Given the description of an element on the screen output the (x, y) to click on. 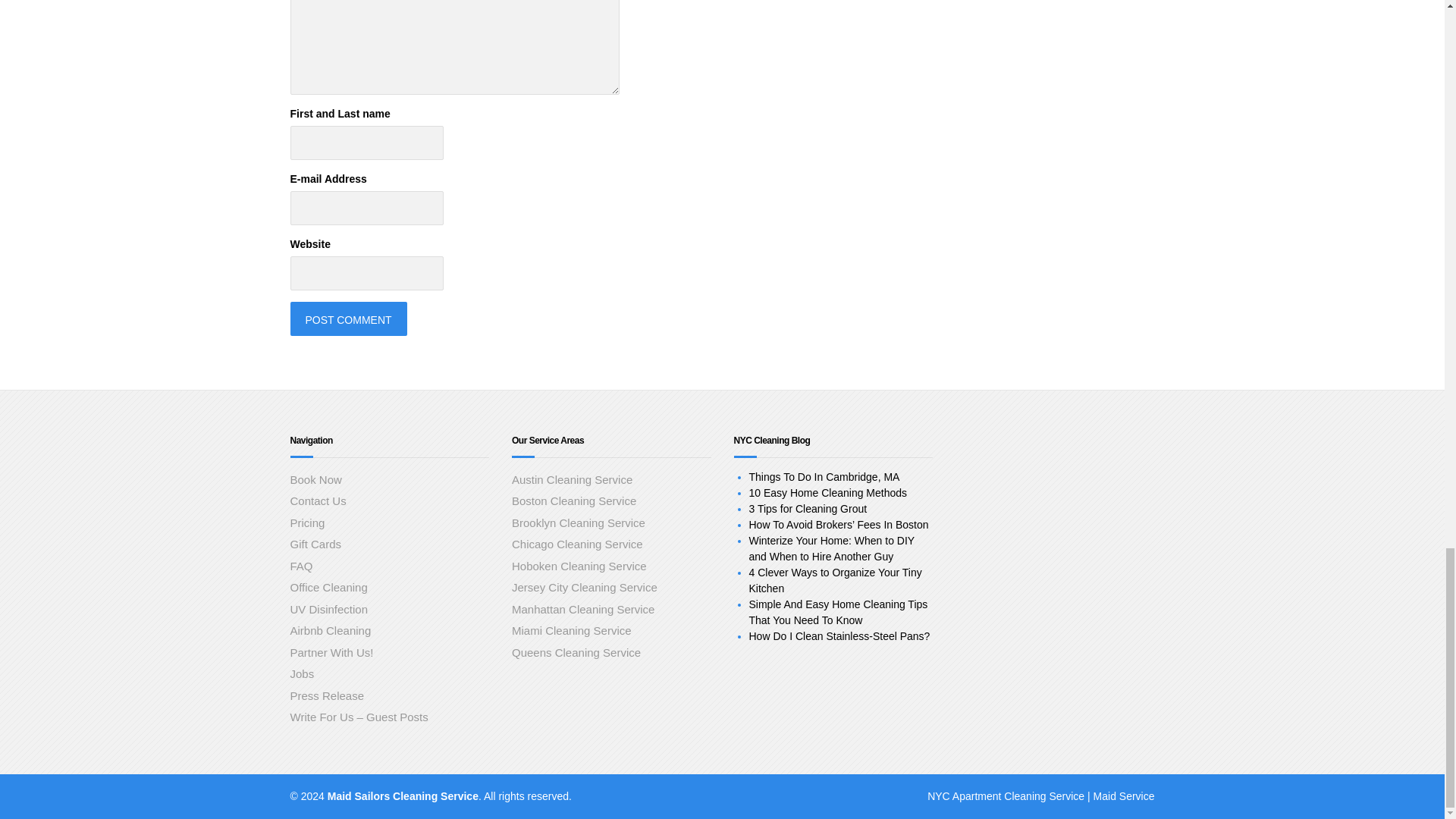
Post Comment (347, 318)
Post Comment (347, 318)
